Given the description of an element on the screen output the (x, y) to click on. 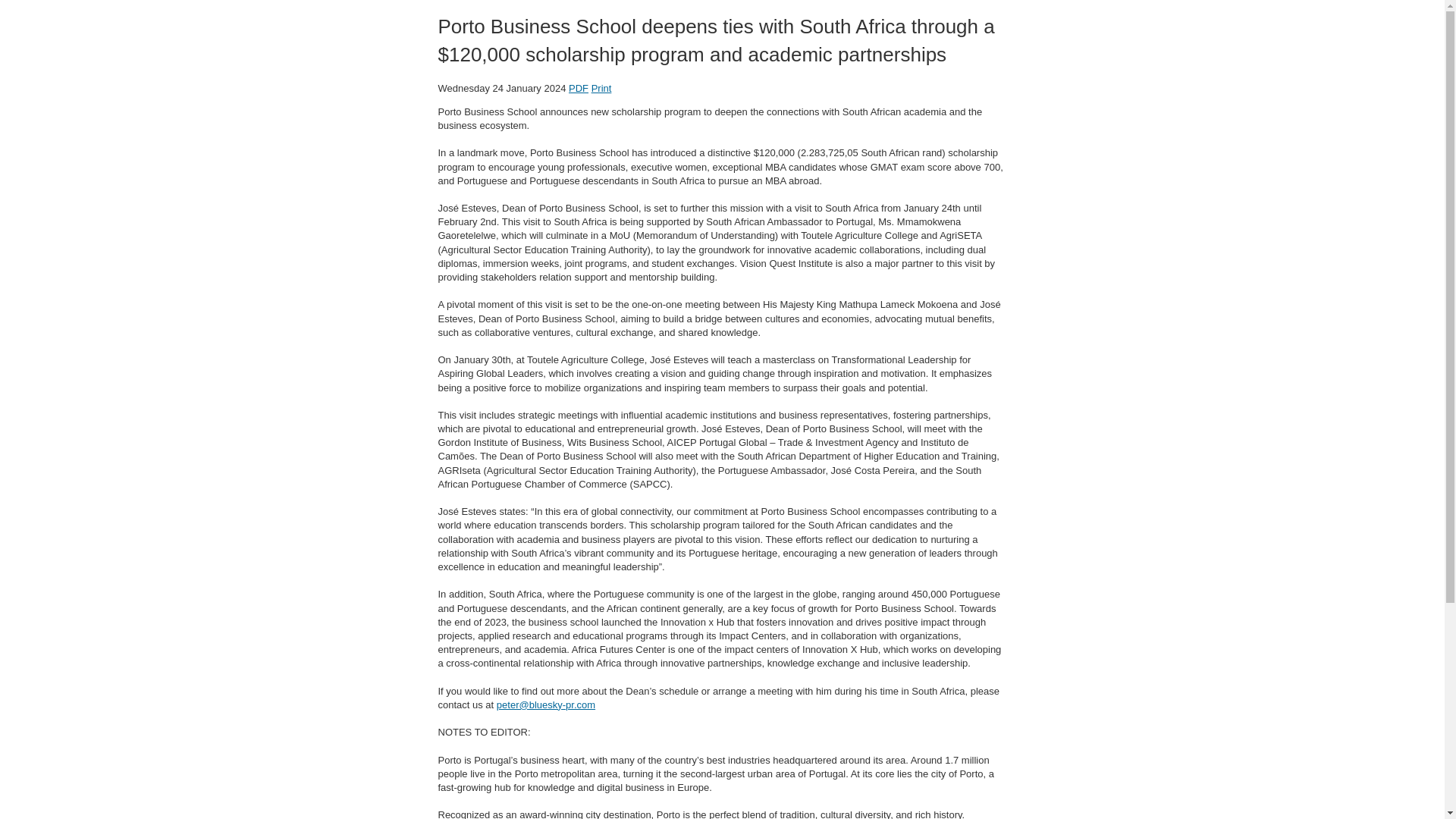
Print this release (601, 88)
Download a PDF for this release (578, 88)
Print (601, 88)
PDF (578, 88)
